Given the description of an element on the screen output the (x, y) to click on. 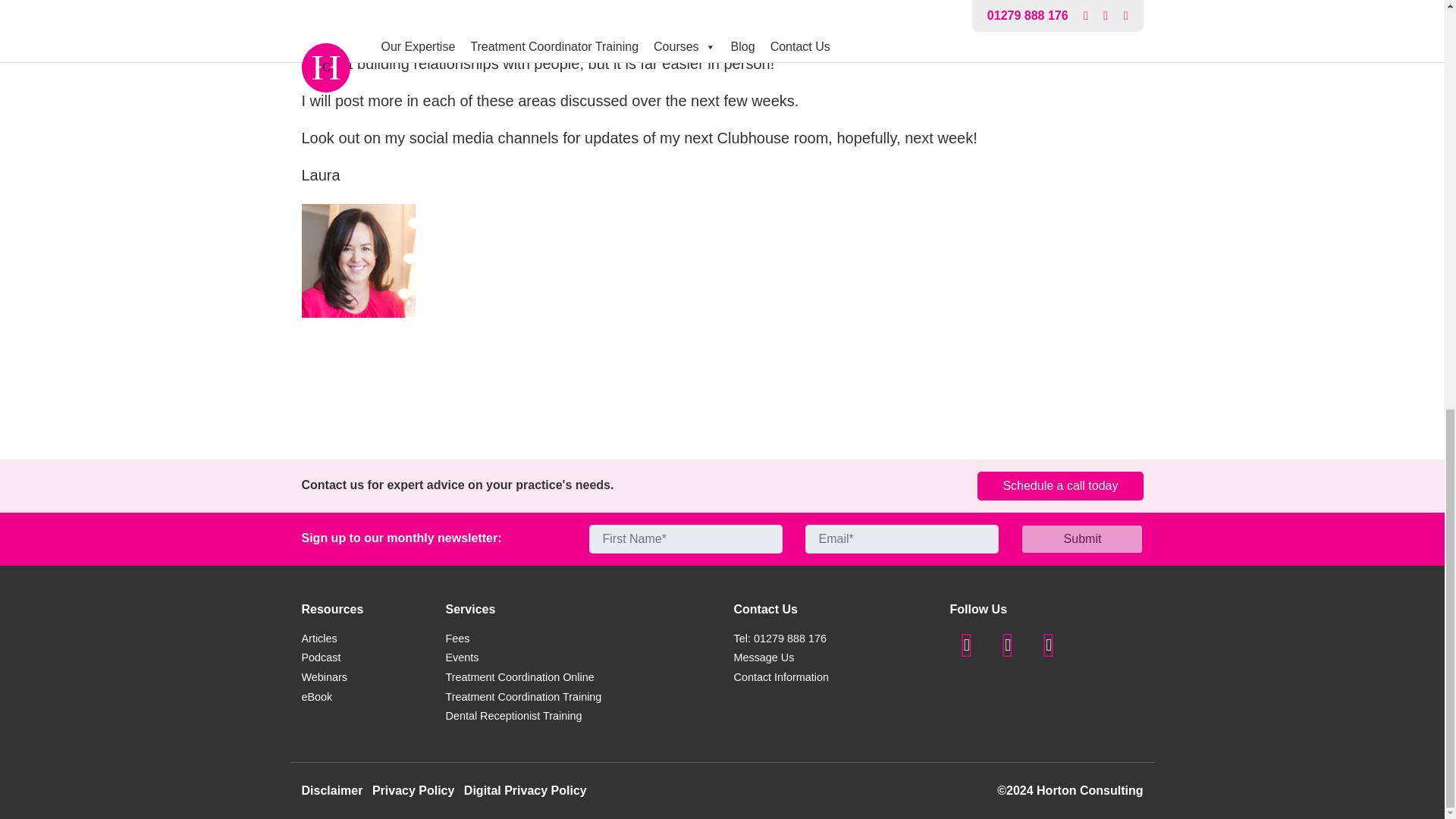
Treatment Coordination Online (519, 676)
eBook (317, 696)
Treatment Coordination Training (523, 696)
Submit (1082, 538)
Contact Information (780, 676)
Tel: 01279 888 176 (779, 638)
Disclaimer (331, 789)
Dental Receptionist Training (513, 715)
Fees (457, 638)
Message Us (763, 657)
Webinars (324, 676)
Events (462, 657)
Digital Privacy Policy (525, 789)
Articles (319, 638)
Privacy Policy (413, 789)
